Given the description of an element on the screen output the (x, y) to click on. 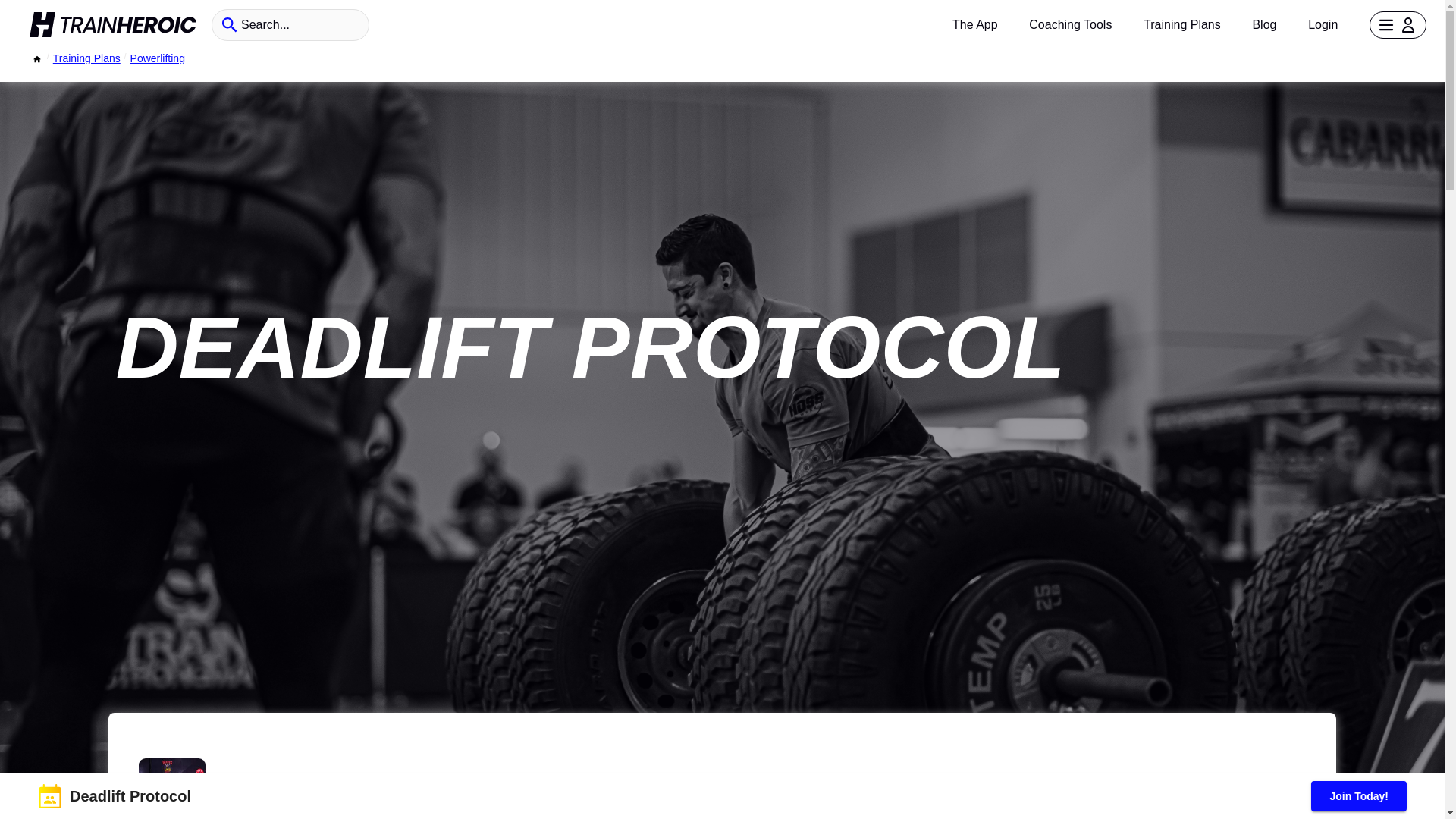
The App (974, 24)
The Strength Pursuit (311, 780)
Powerlifting (157, 58)
Login (1322, 24)
Training Plans (86, 58)
Join Today! (1358, 796)
Blog (1264, 24)
Training Plans (1181, 24)
Coaching Tools (1070, 24)
